Given the description of an element on the screen output the (x, y) to click on. 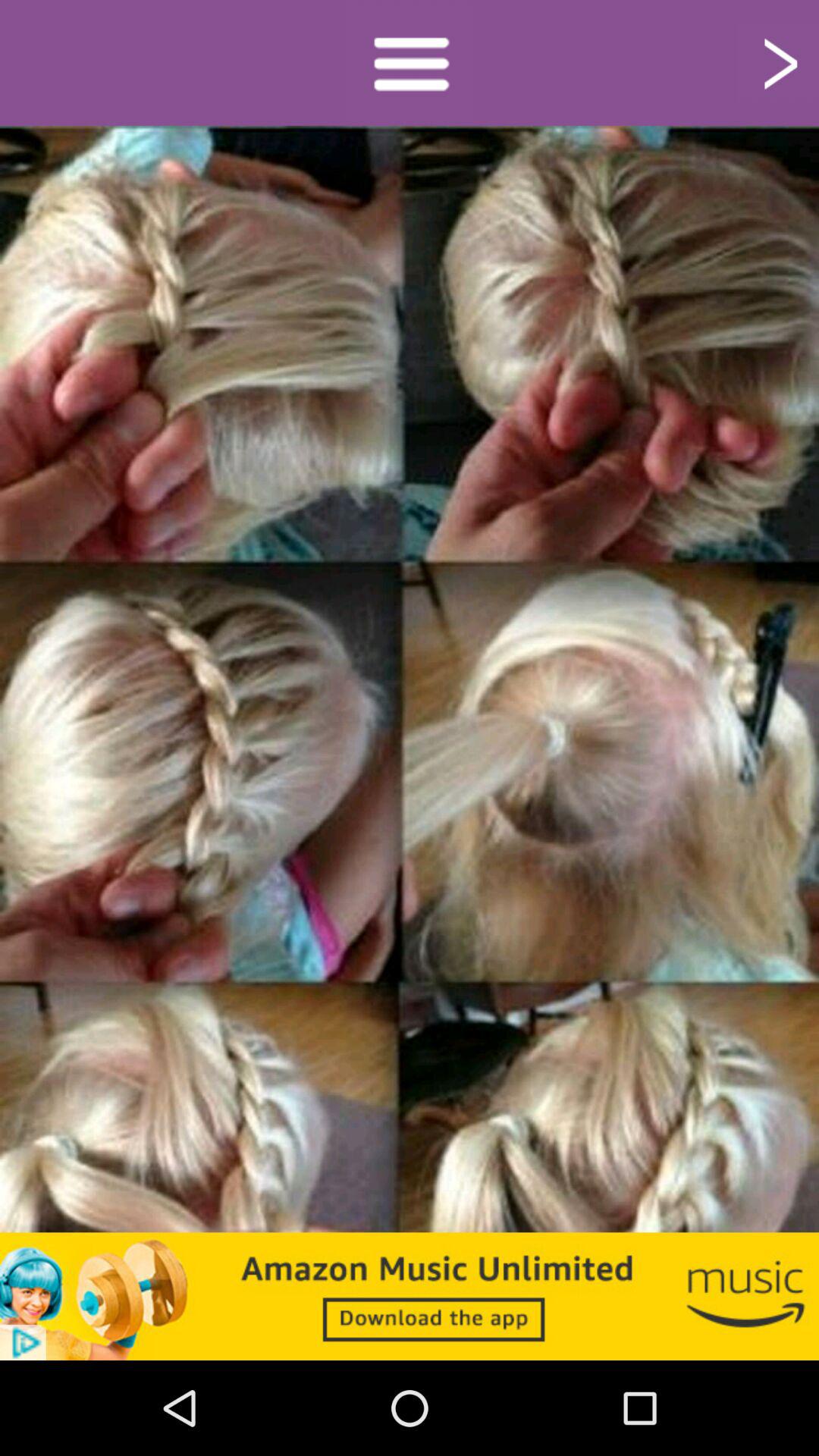
go to next (778, 62)
